Given the description of an element on the screen output the (x, y) to click on. 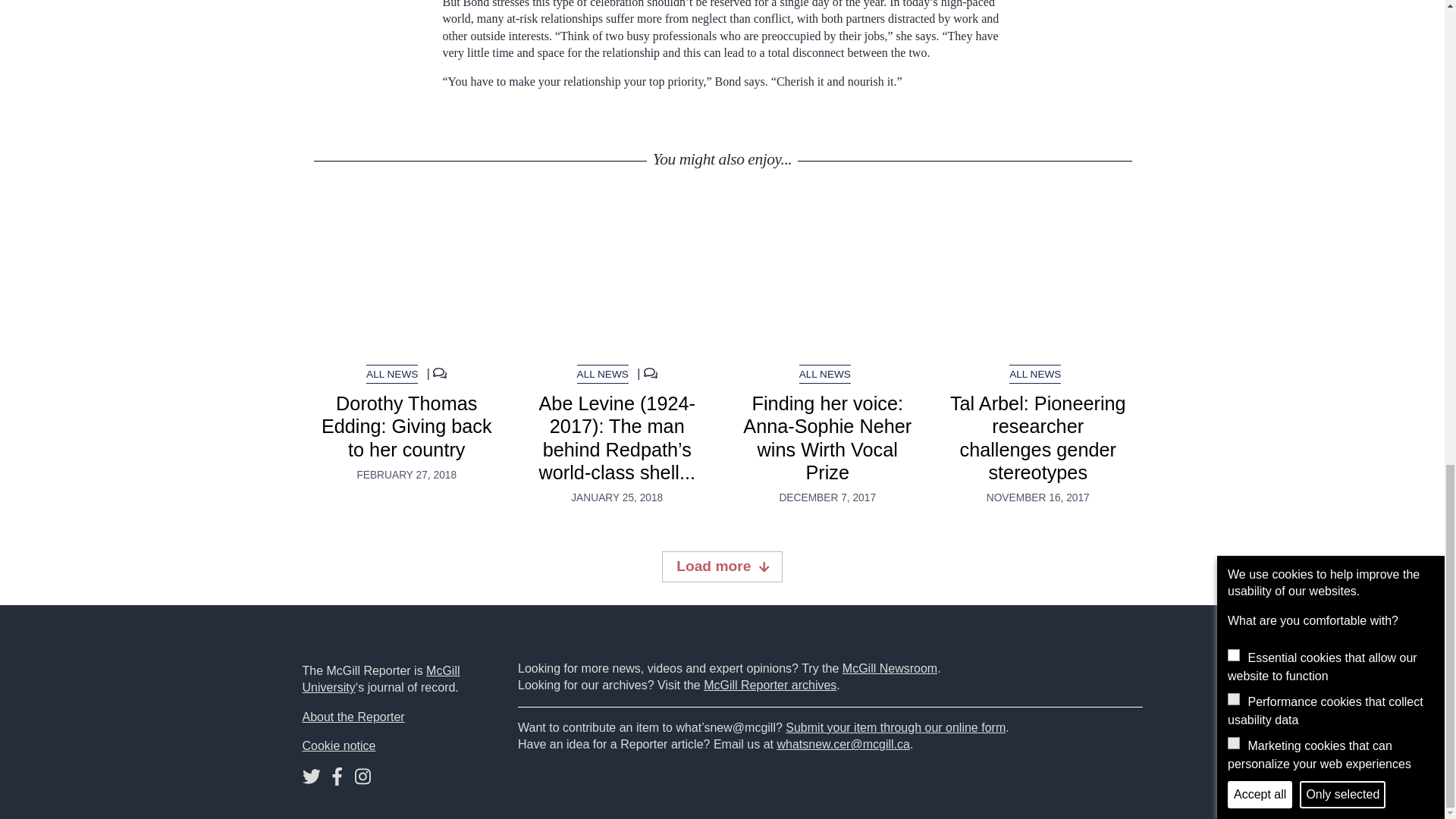
Finding her voice: Anna-Sophie Neher wins Wirth Vocal Prize (826, 278)
Follow us on Facebook (336, 778)
ALL NEWS (602, 374)
ALL NEWS (824, 374)
Dorothy Thomas Edding: Giving back to her country (407, 278)
McGill University (380, 678)
Dorothy Thomas Edding: Giving back to her country (406, 426)
Cookie notice (338, 745)
ALL NEWS (1035, 374)
